Given the description of an element on the screen output the (x, y) to click on. 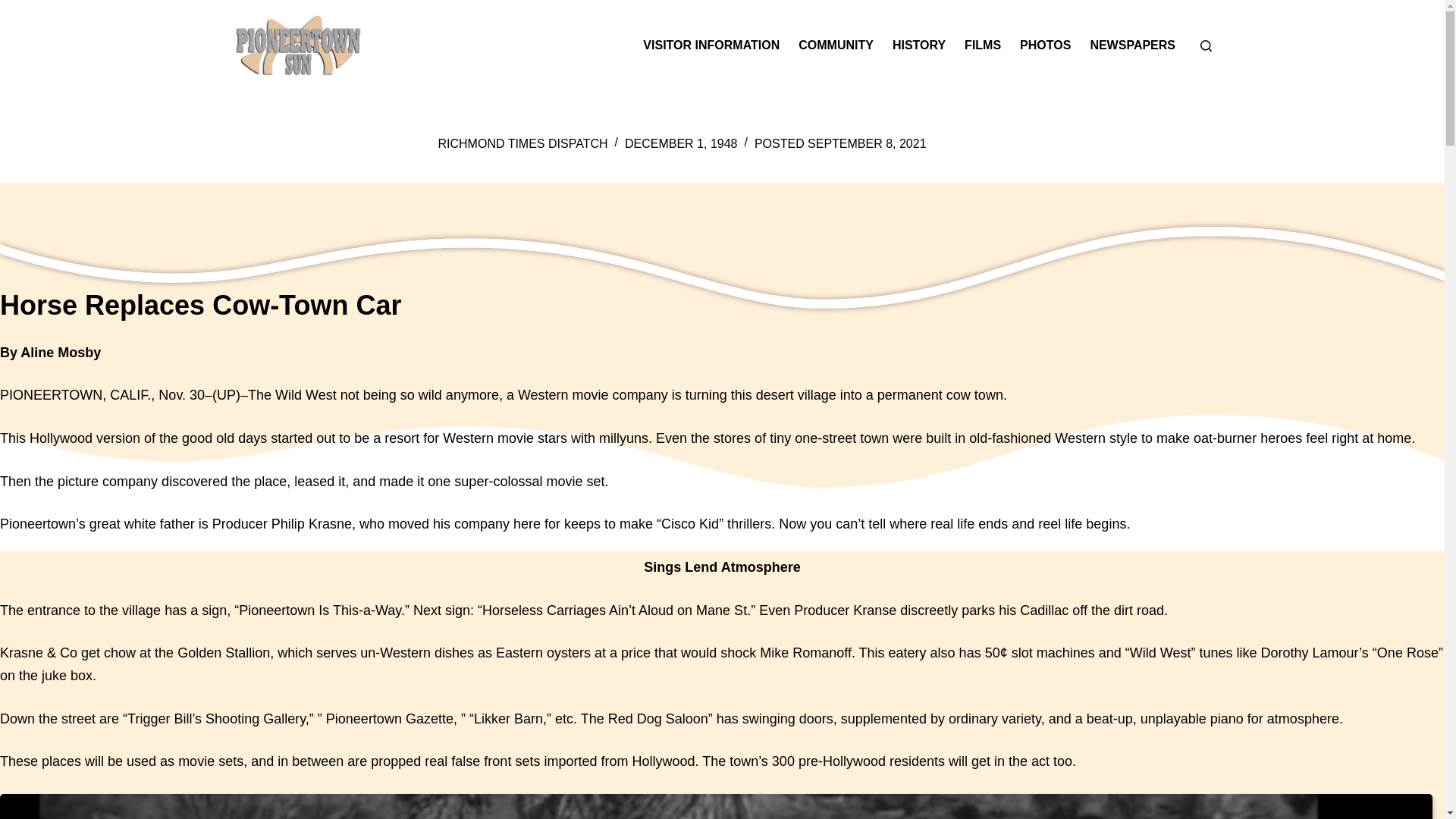
Posts by Richmond Times Dispatch (523, 143)
VISITOR INFORMATION (711, 45)
RICHMOND TIMES DISPATCH (523, 143)
NEWSPAPERS (1132, 45)
Barbed Wire (716, 806)
Barbed Wire (716, 806)
COMMUNITY (836, 45)
Skip to content (15, 7)
